Given the description of an element on the screen output the (x, y) to click on. 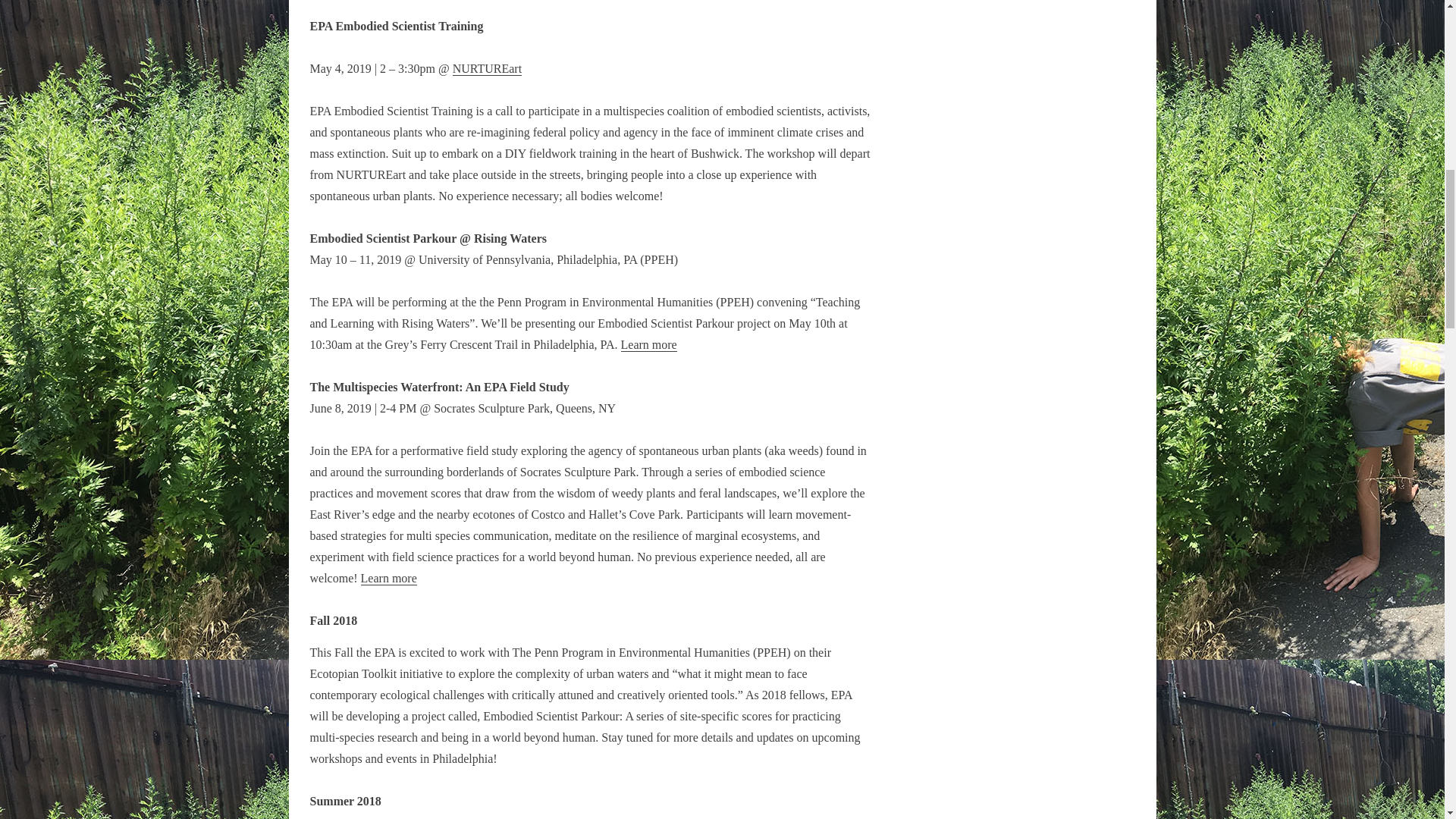
Learn more (649, 345)
Learn more (388, 578)
NURTUREart (486, 69)
